Given the description of an element on the screen output the (x, y) to click on. 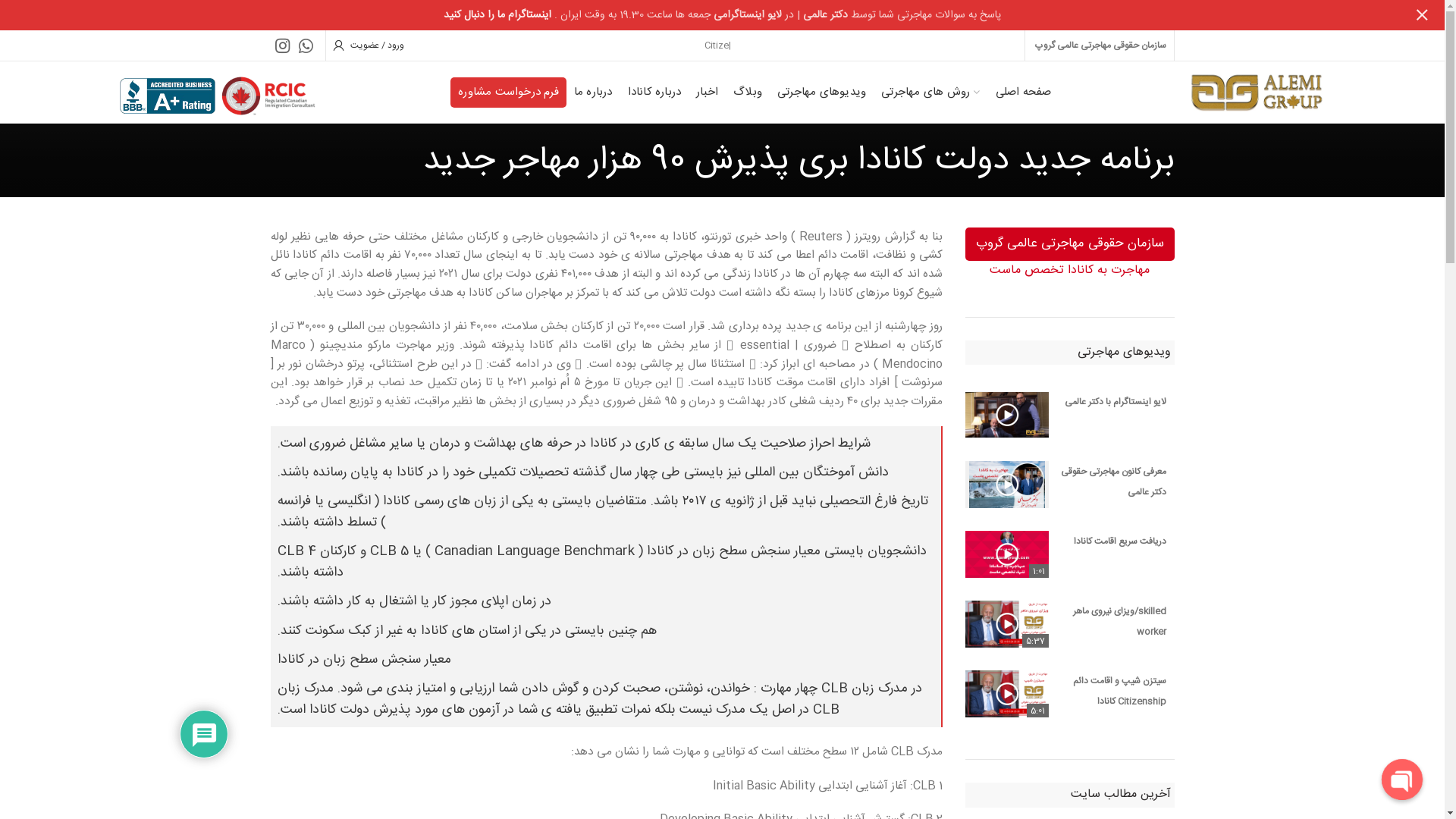
5:01 Element type: text (1006, 693)
1:01 Element type: text (1006, 553)
Instagram Element type: text (281, 45)
WhatsApp Element type: text (305, 45)
5:37 Element type: text (1006, 623)
